Given the description of an element on the screen output the (x, y) to click on. 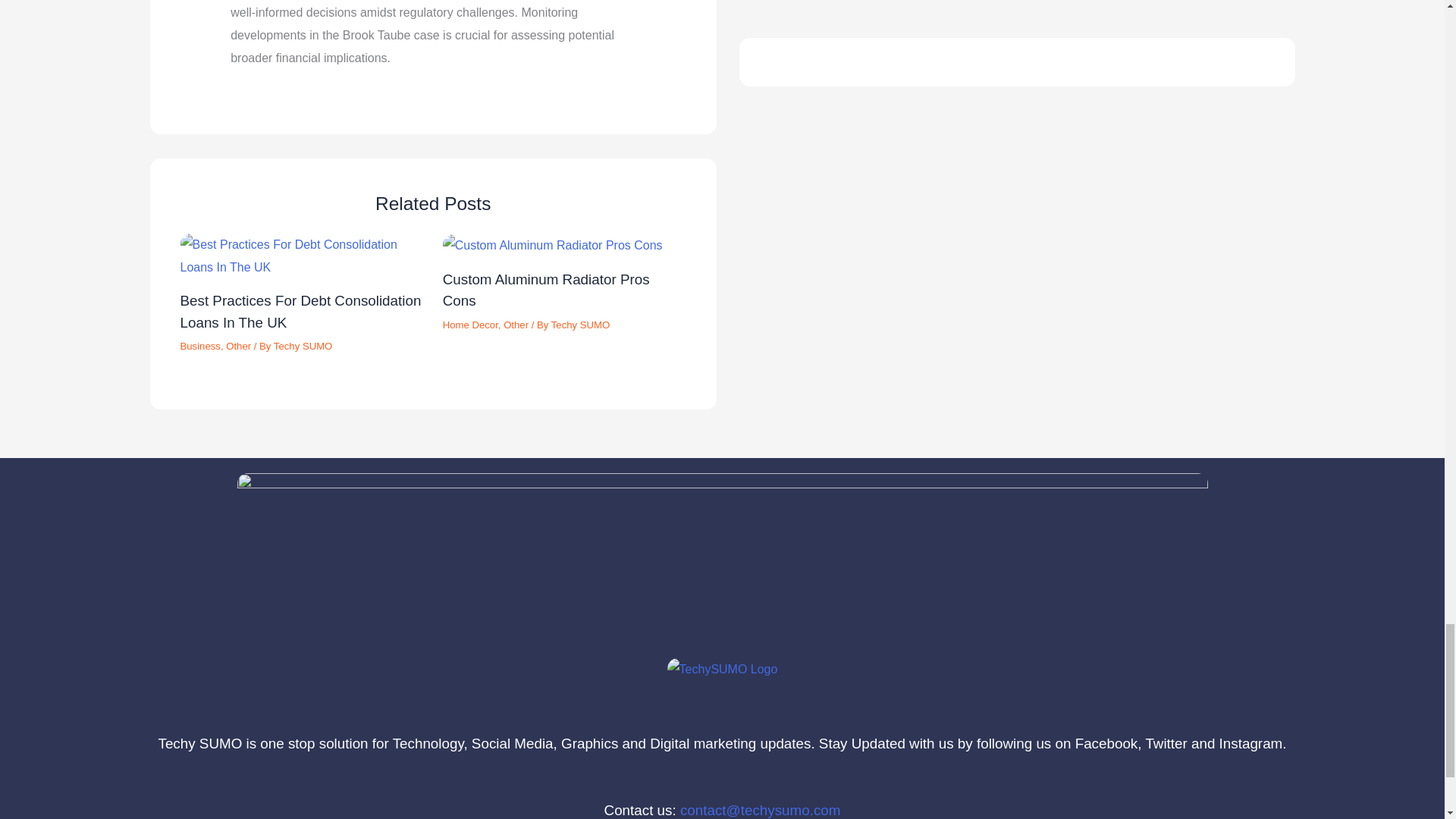
View all posts by Techy SUMO (303, 346)
